Given the description of an element on the screen output the (x, y) to click on. 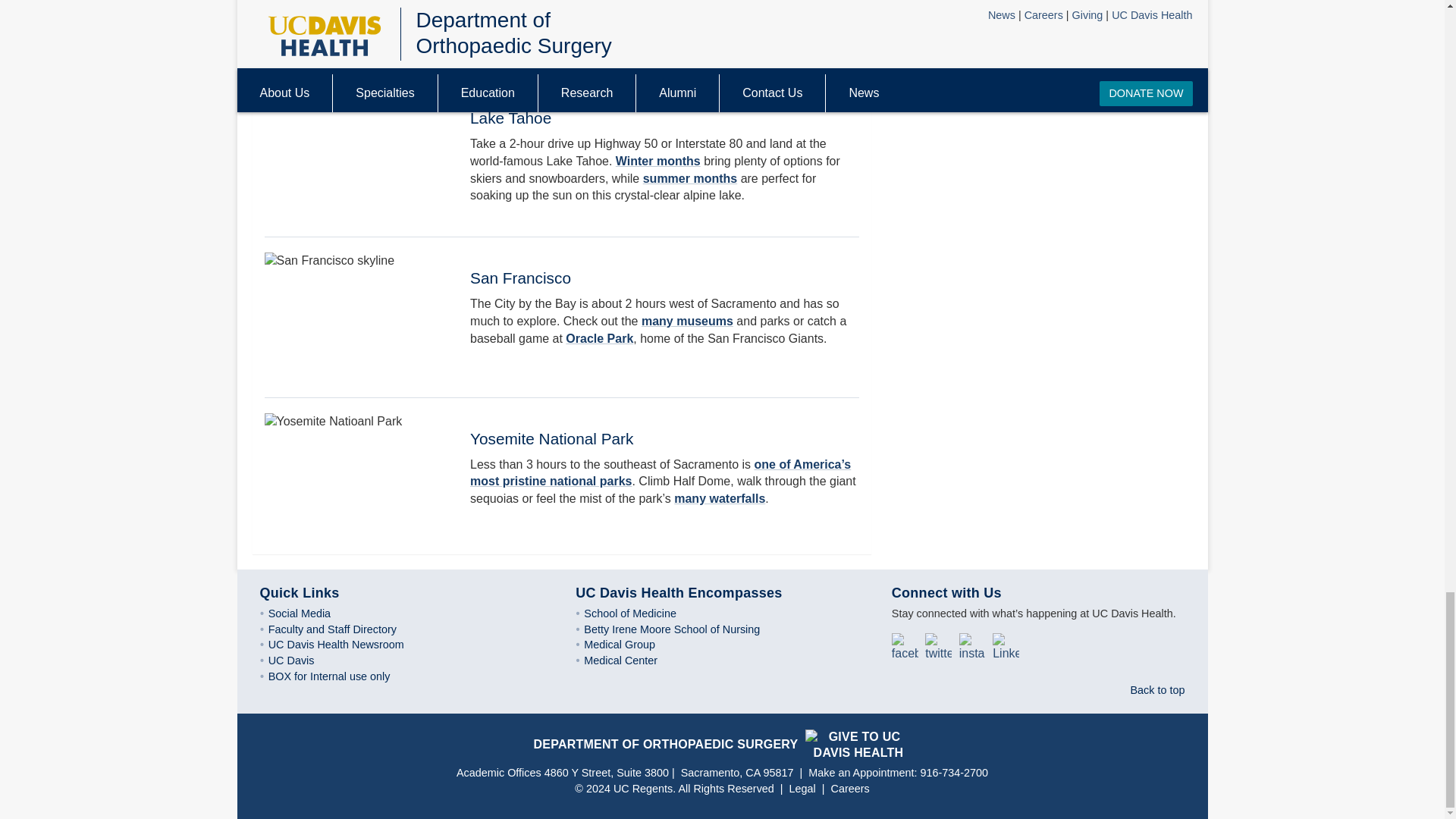
insta (974, 643)
LinkedIn (1007, 643)
twitter (939, 643)
facebook (906, 643)
Give to UC Davis Health (854, 743)
